Given the description of an element on the screen output the (x, y) to click on. 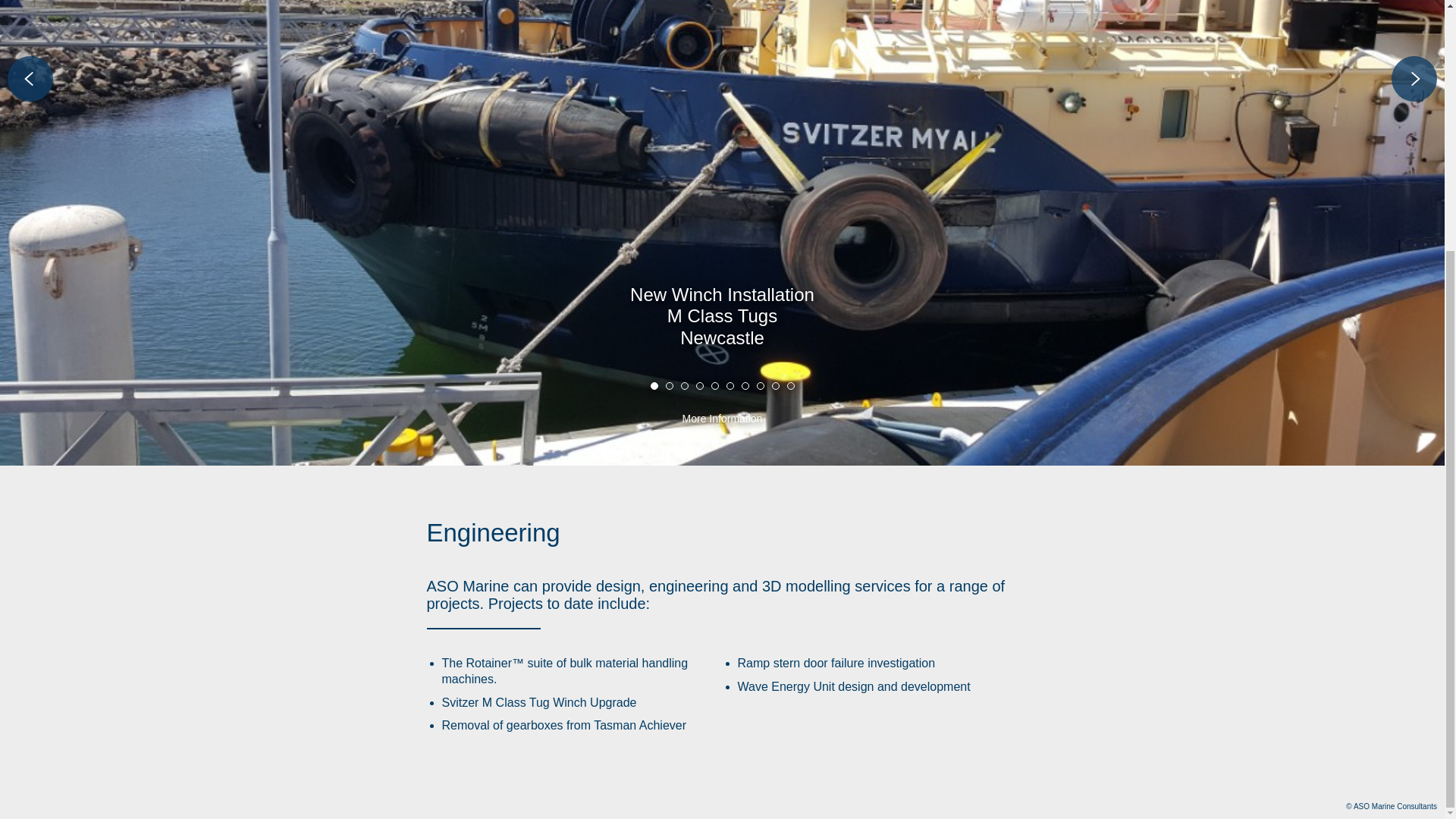
6 (729, 385)
3 (684, 385)
2 (668, 385)
5 (715, 385)
10 (790, 385)
9 (774, 385)
7 (745, 385)
4 (699, 385)
1 (654, 385)
8 (760, 385)
More Information (721, 425)
